Given the description of an element on the screen output the (x, y) to click on. 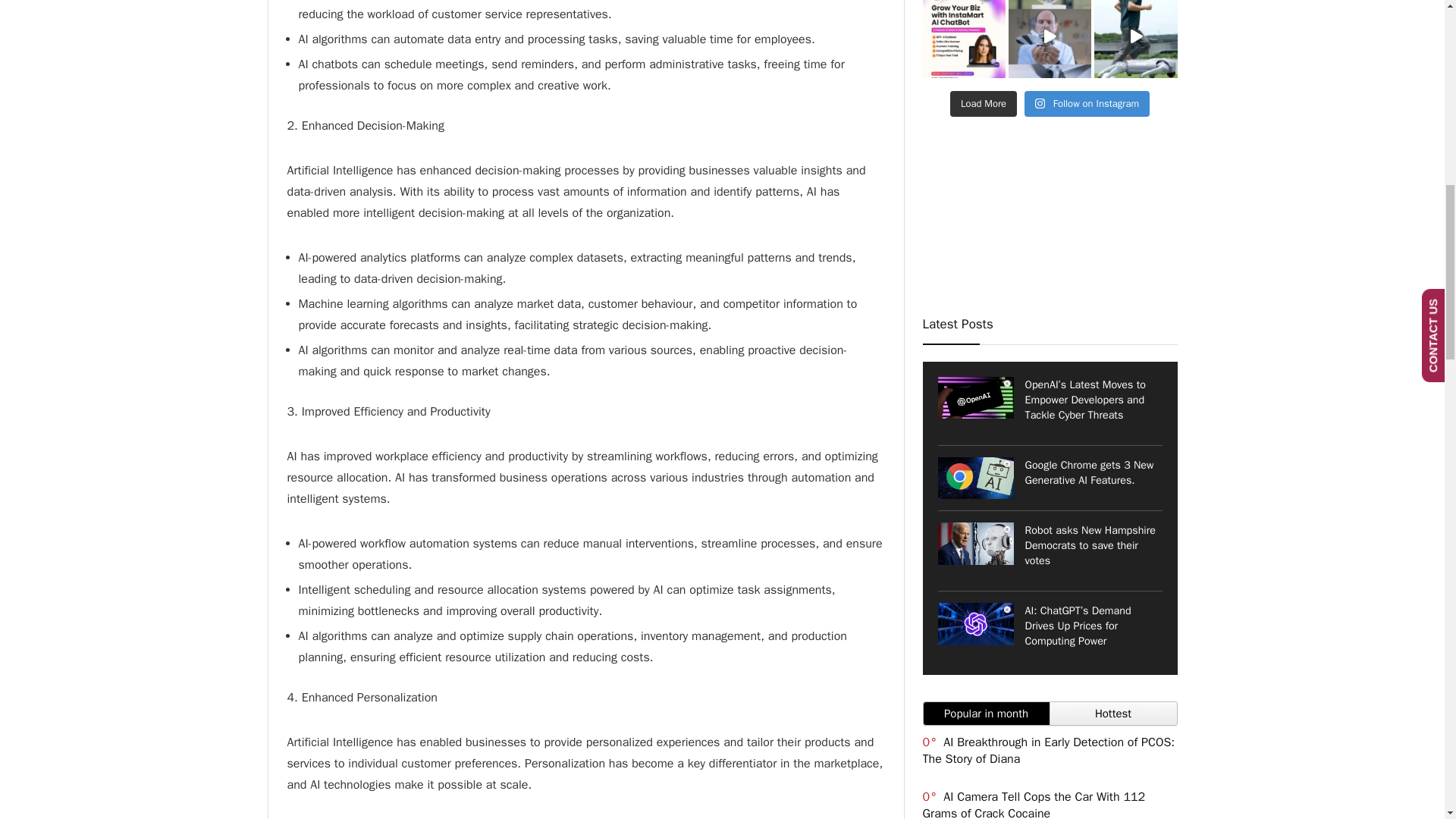
YouTube video player (1048, 217)
